Given the description of an element on the screen output the (x, y) to click on. 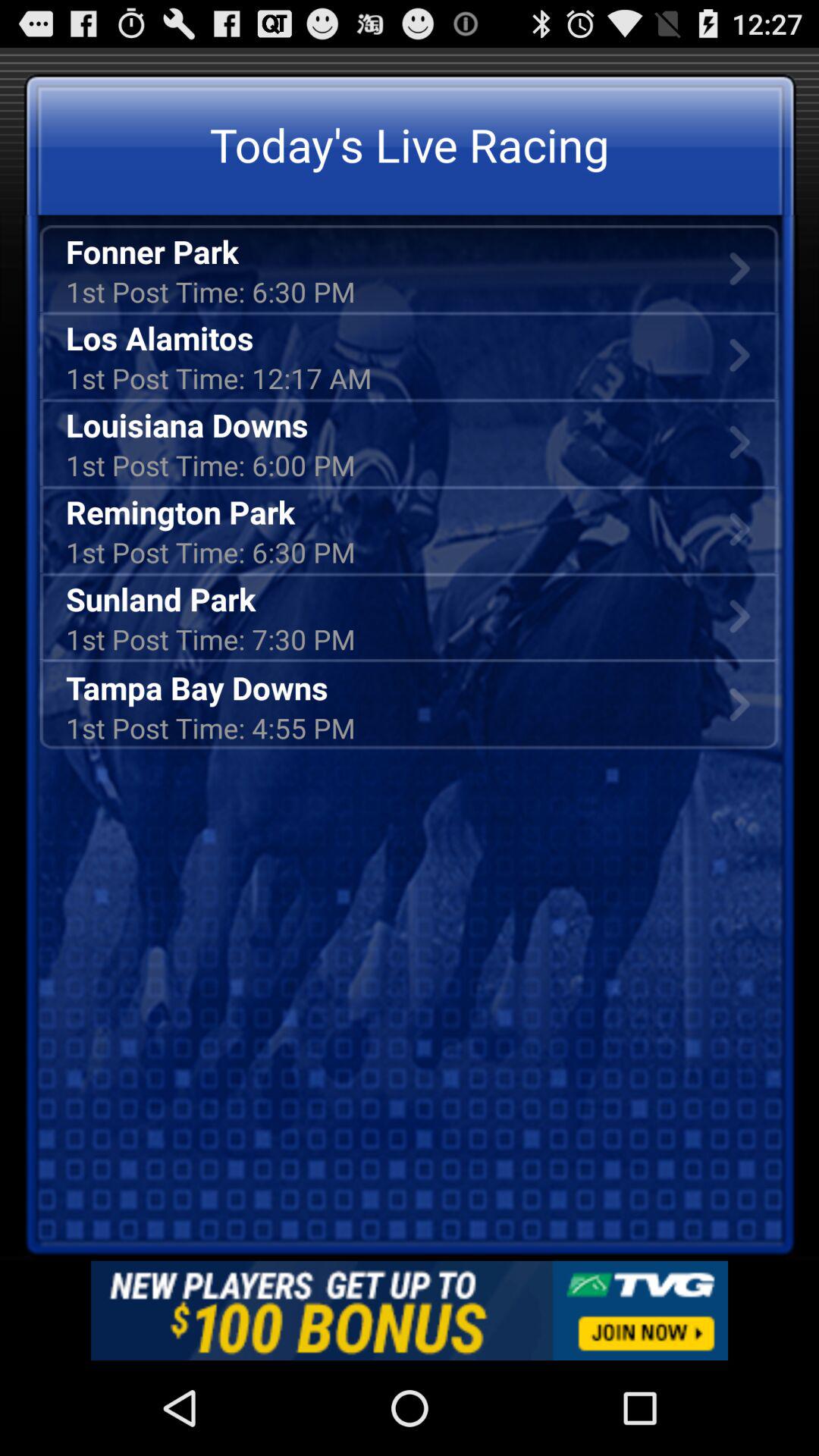
this is add on the app (409, 1310)
